Given the description of an element on the screen output the (x, y) to click on. 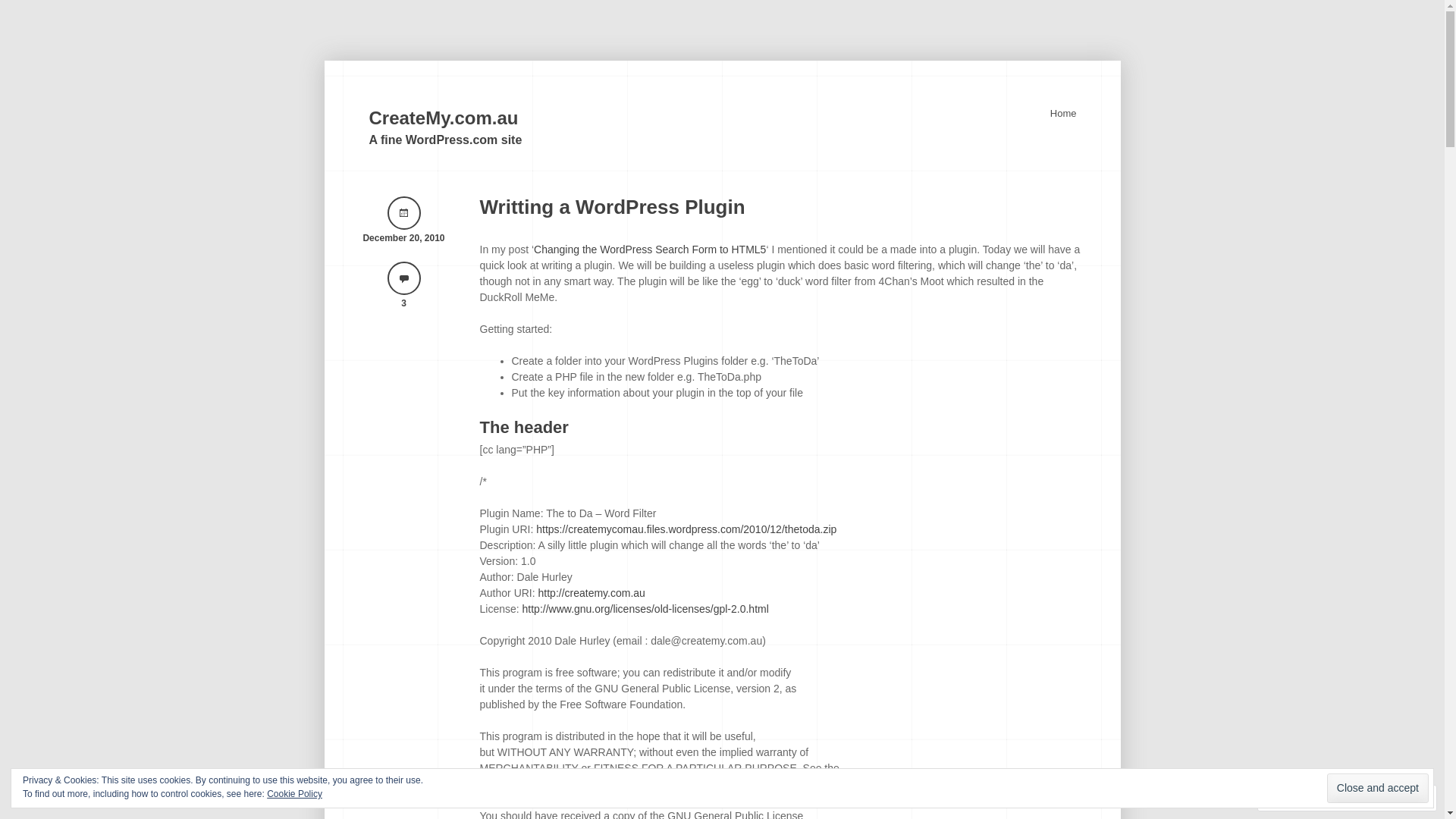
Changing the WordPress Search Form to HTML5 Element type: text (649, 249)
Close and accept Element type: text (1377, 788)
Cookie Policy Element type: text (294, 793)
http://createmy.com.au Element type: text (591, 592)
CreateMy.com.au Element type: text (442, 117)
December 20, 2010 Element type: text (402, 221)
Follow Element type: text (1374, 797)
Comment Element type: text (1298, 797)
Home Element type: text (1063, 113)
Skip to content Element type: text (1082, 113)
http://www.gnu.org/licenses/old-licenses/gpl-2.0.html Element type: text (645, 608)
3 Element type: text (402, 286)
Writting a WordPress Plugin Element type: text (611, 206)
